Given the description of an element on the screen output the (x, y) to click on. 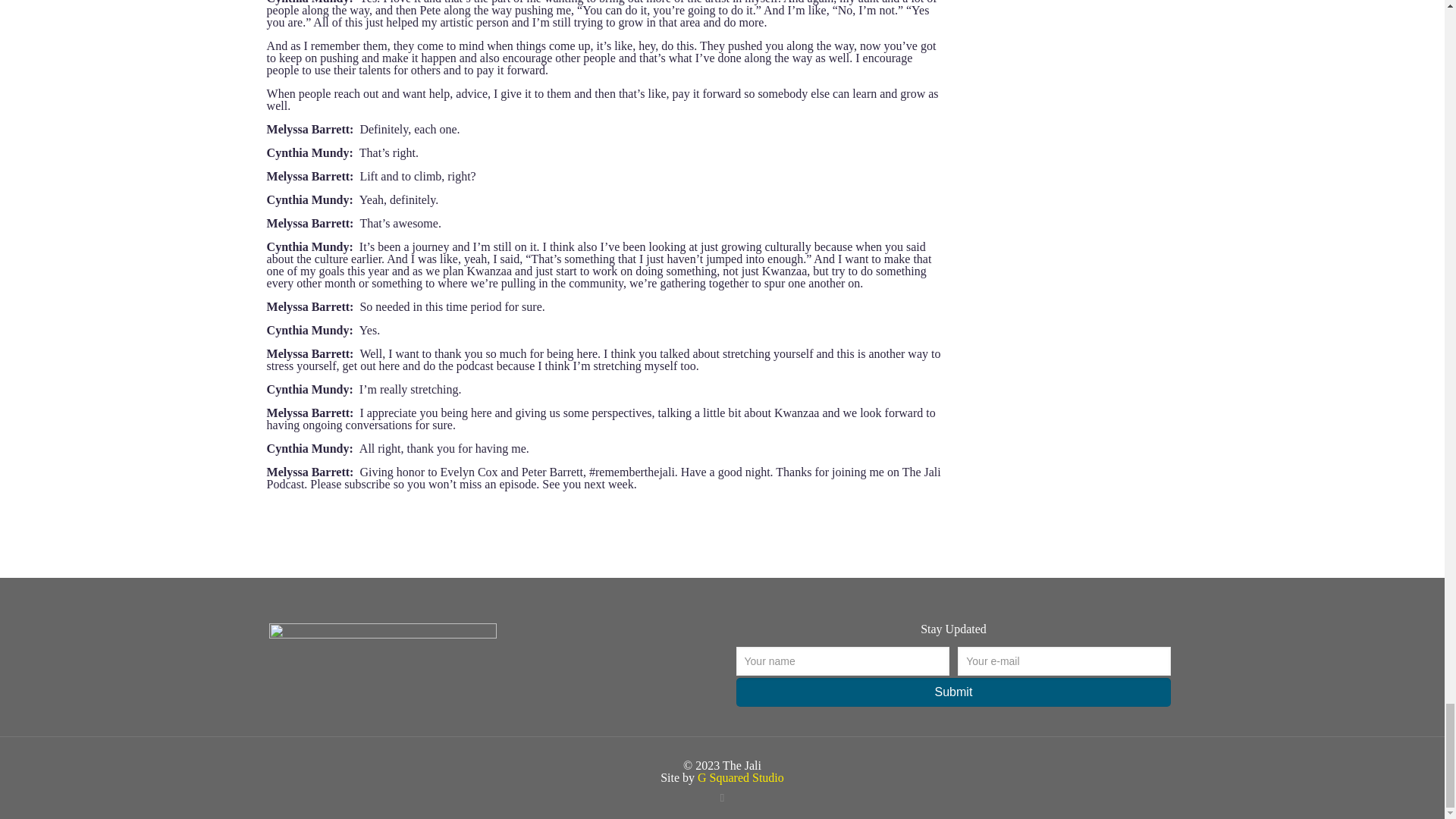
Facebook (722, 797)
Submit (952, 692)
G Squared Studio (740, 777)
Submit (952, 692)
